Given the description of an element on the screen output the (x, y) to click on. 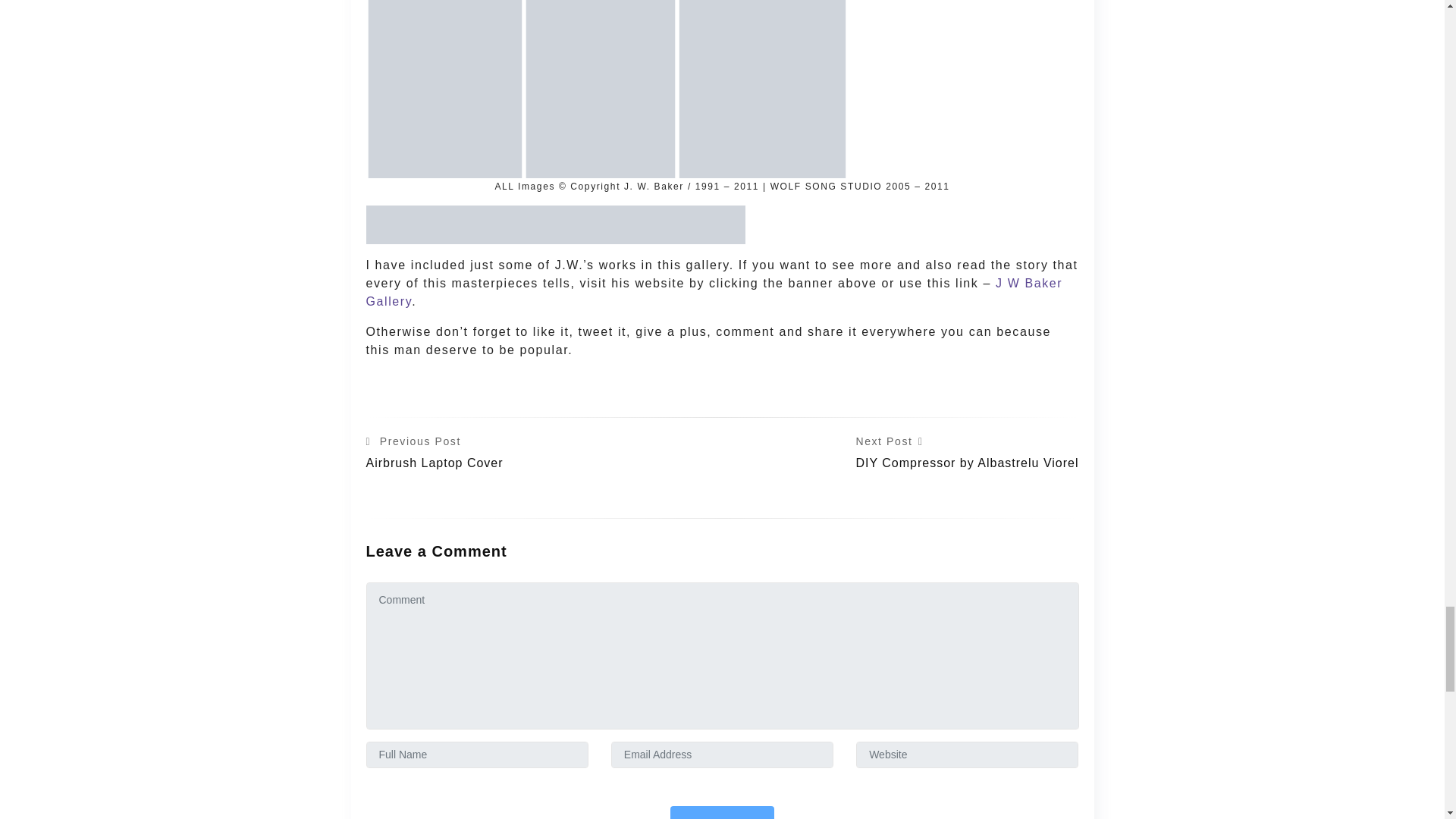
Post Comment (721, 812)
